Given the description of an element on the screen output the (x, y) to click on. 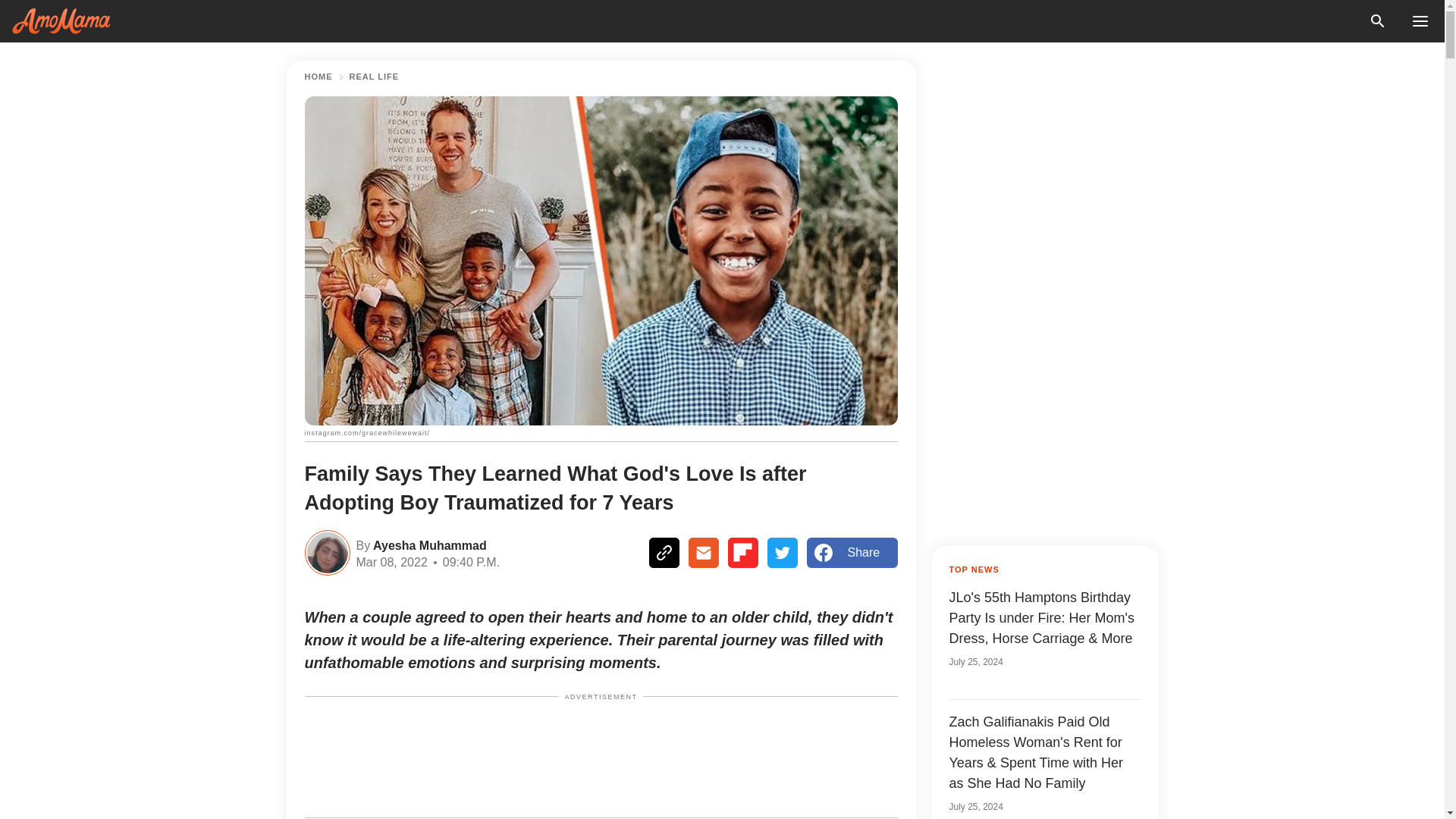
HOME (318, 76)
REAL LIFE (373, 76)
Ayesha Muhammad (427, 544)
